Given the description of an element on the screen output the (x, y) to click on. 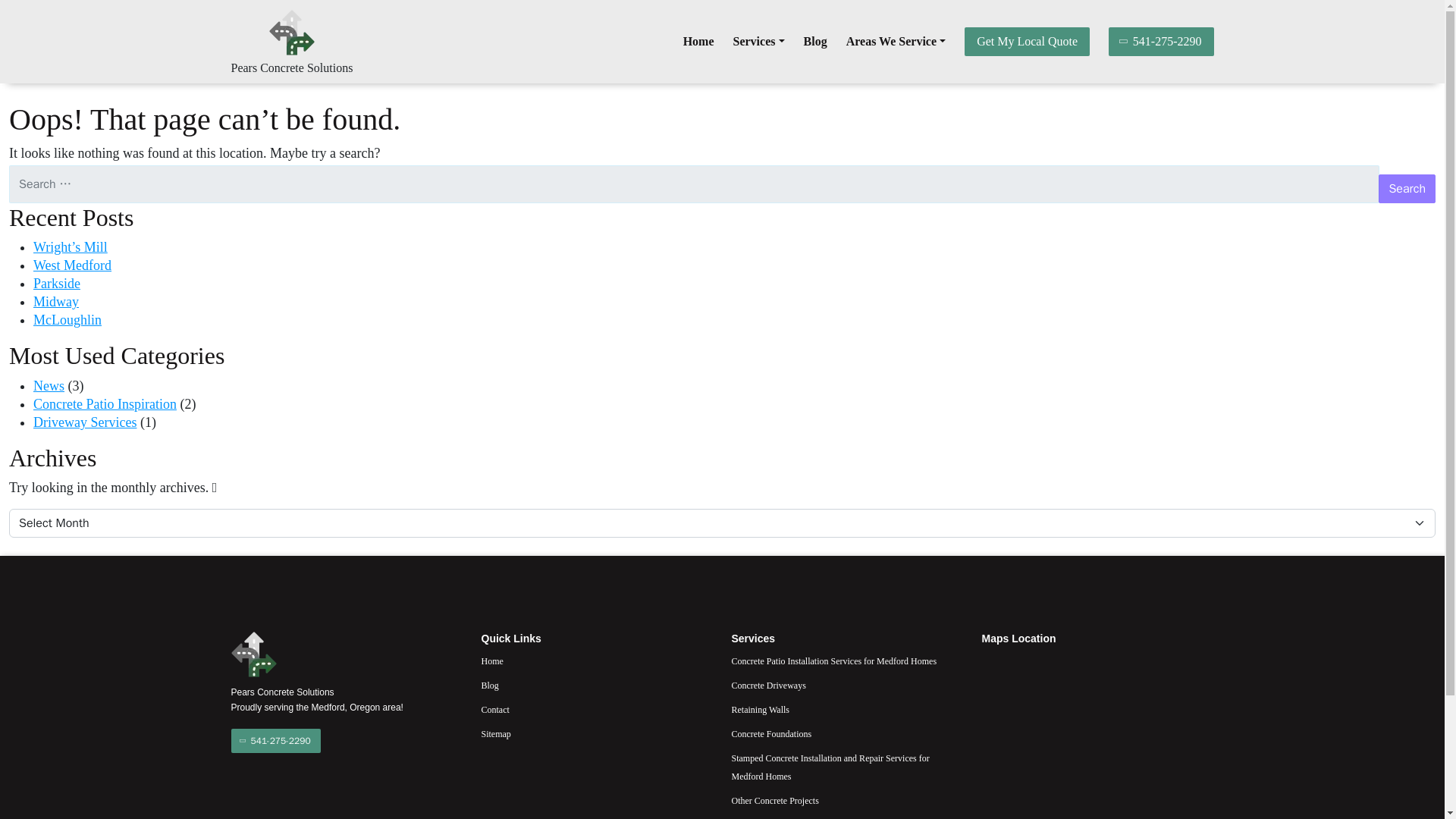
Areas We Service (894, 41)
Pears Concrete Solutions (291, 67)
Parkside (56, 283)
News (48, 385)
Services (758, 41)
Search (1406, 188)
541-275-2290 (1161, 41)
Home (698, 41)
Concrete Patio Inspiration (104, 403)
Areas We Service (894, 41)
